Given the description of an element on the screen output the (x, y) to click on. 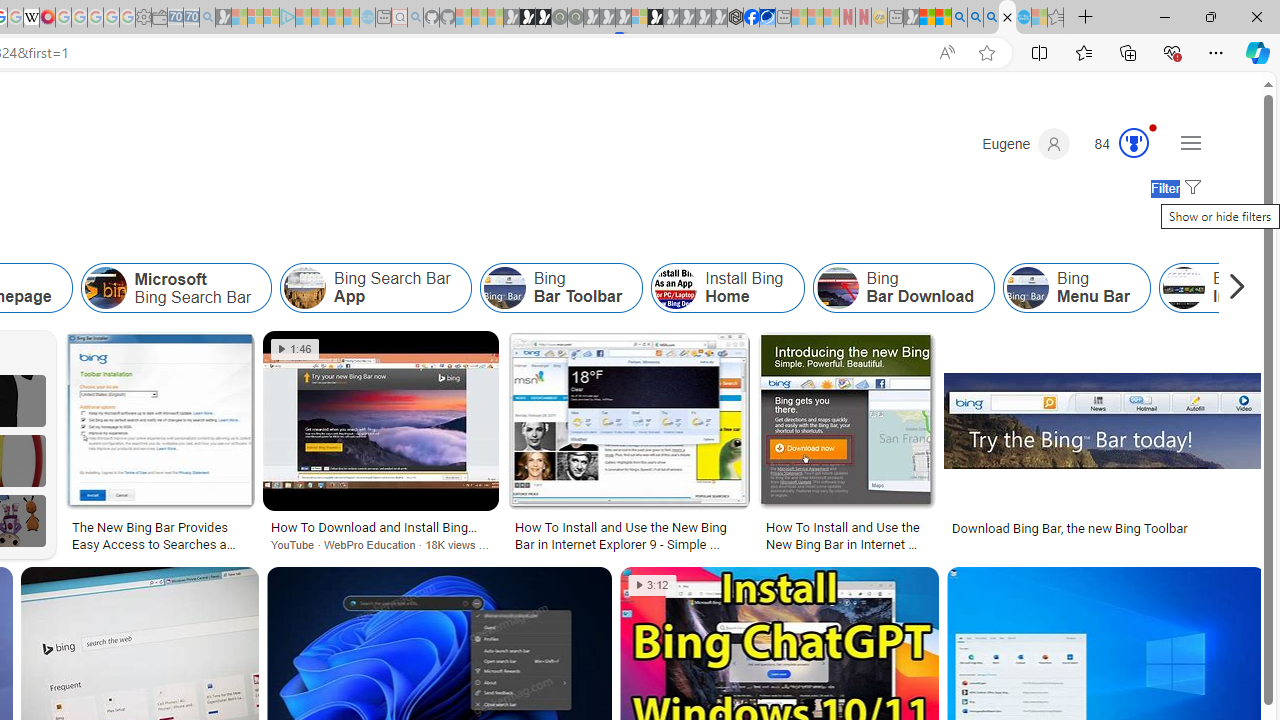
Eugene (1026, 143)
Target page - Wikipedia (31, 17)
Install Bing Home (727, 287)
Settings and quick links (1190, 142)
Bing Bar Toolbar (561, 287)
Animation (1153, 127)
AutomationID: serp_medal_svg (1133, 142)
Bing Bar Toolbar (504, 287)
